Given the description of an element on the screen output the (x, y) to click on. 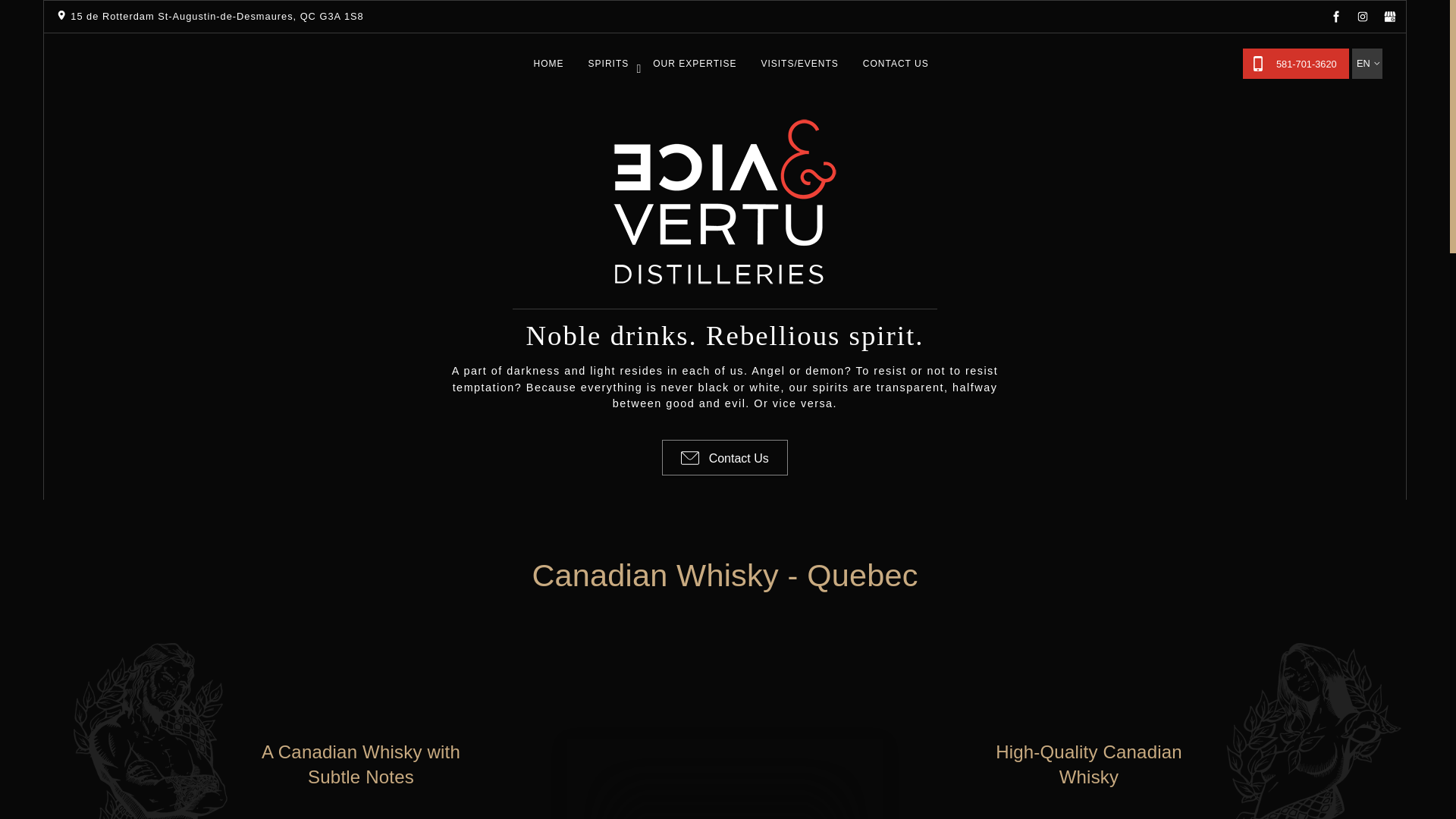
581-701-3620 (1296, 63)
Instagram (1362, 17)
Facebook (1335, 18)
EN (1366, 48)
Mybusiness (1389, 17)
